Given the description of an element on the screen output the (x, y) to click on. 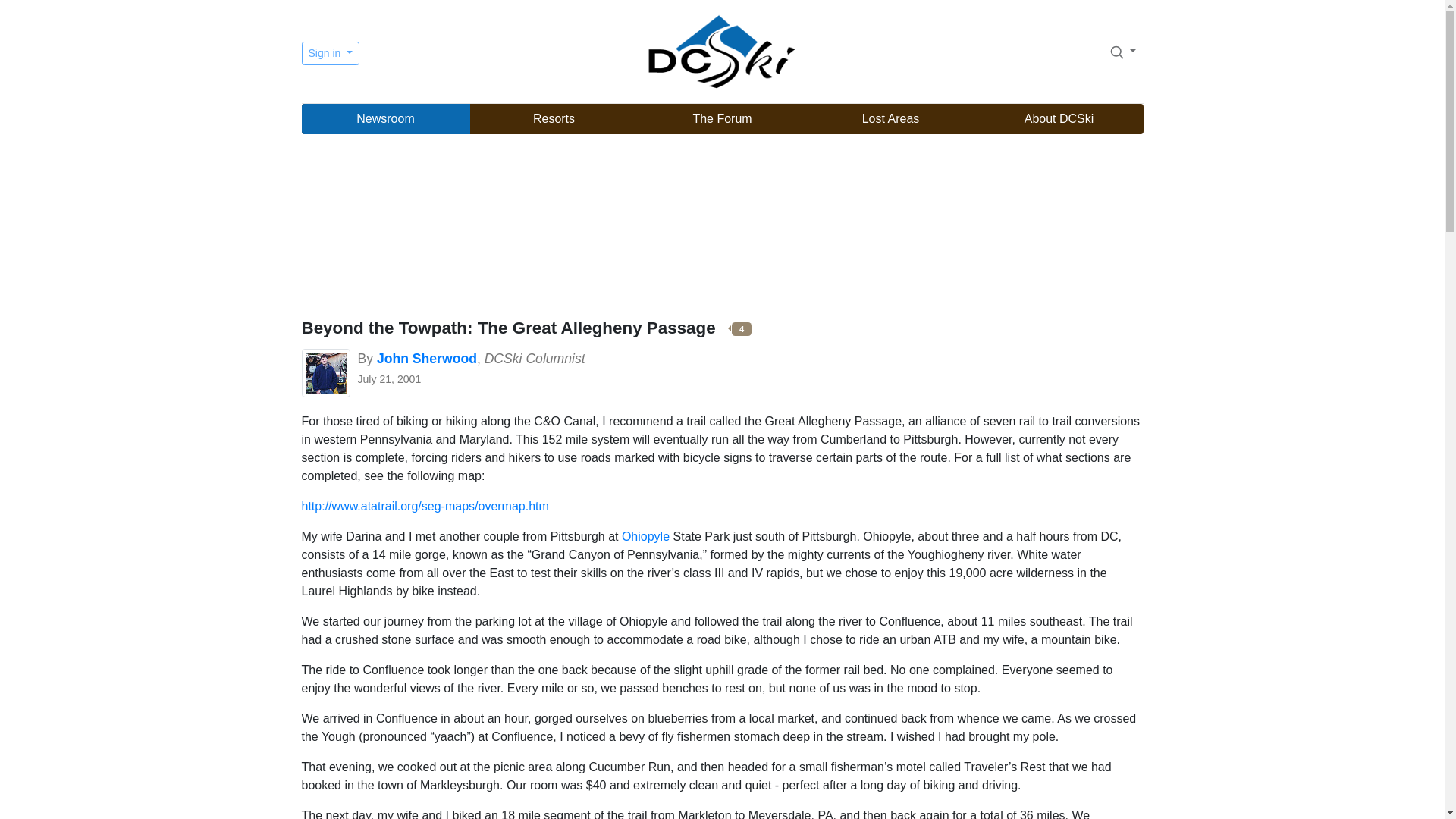
Resorts (554, 119)
Sign in (330, 53)
Lost Areas (890, 119)
John Sherwood (427, 358)
The Forum (722, 119)
Ohiopyle (645, 535)
Advertisement (721, 227)
Search (1116, 52)
About DCSki (1058, 119)
Newsroom (385, 119)
